Given the description of an element on the screen output the (x, y) to click on. 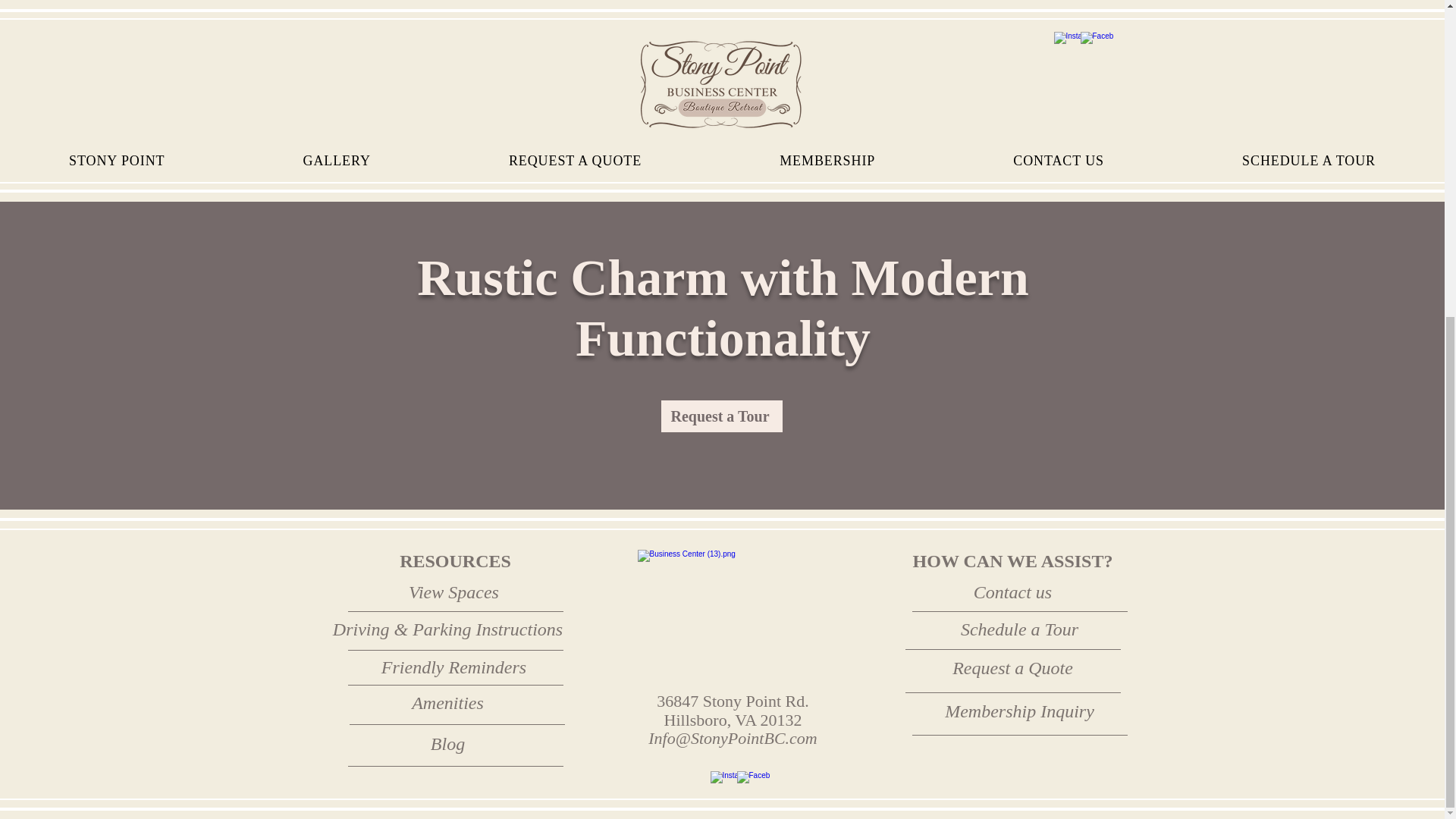
Membership Inquiry (1019, 711)
Schedule a Tour (1019, 629)
Amenities (447, 702)
RESOURCES (454, 560)
Blog (447, 743)
Request a Quote (1012, 667)
Contact us (1012, 591)
Request a Tour (722, 416)
Friendly Reminders (453, 667)
HOW CAN WE ASSIST? (1012, 560)
